Given the description of an element on the screen output the (x, y) to click on. 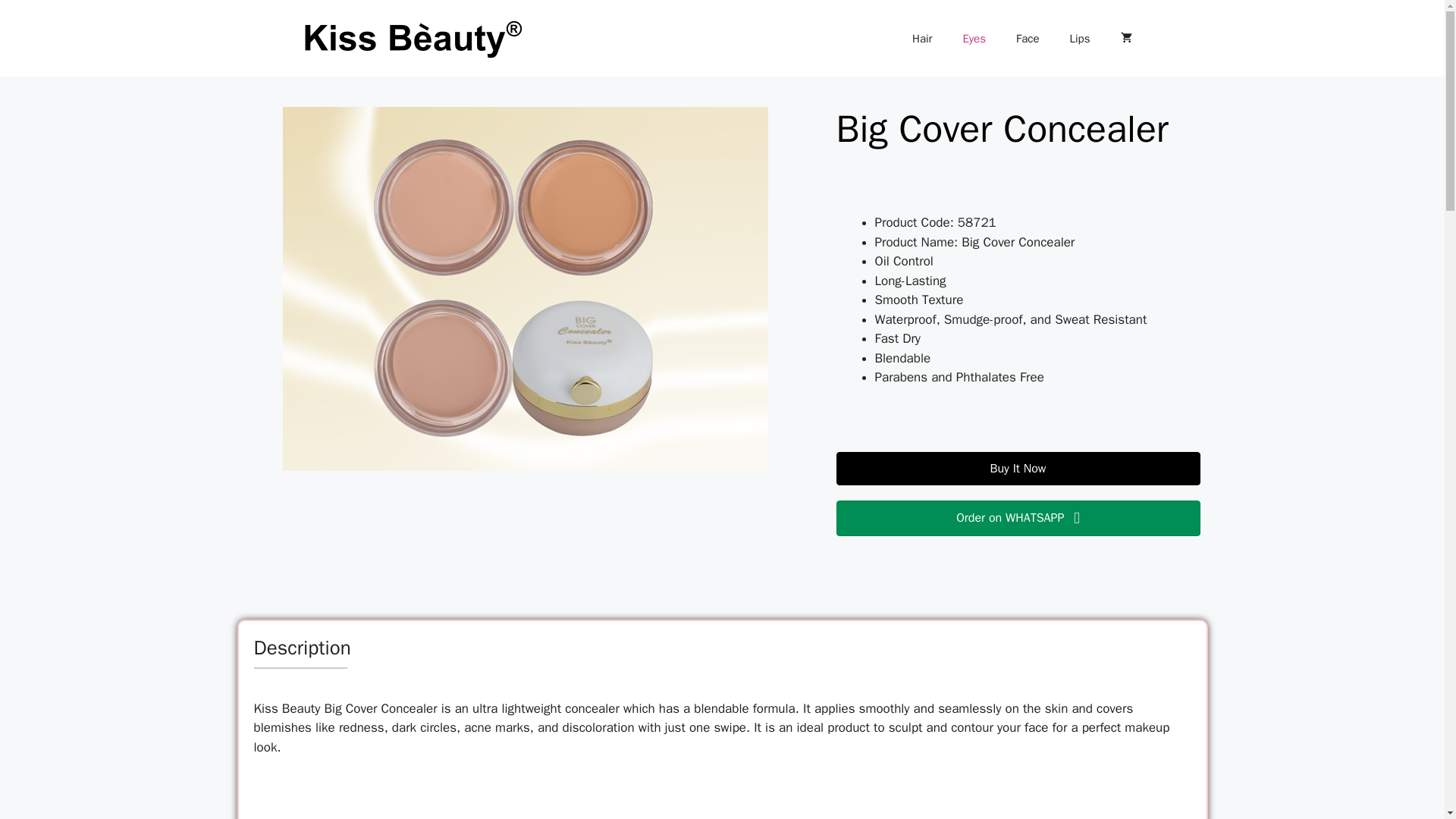
Eyes (974, 37)
kissbeauty (411, 38)
Buy It Now (1017, 468)
Face (1027, 37)
View your shopping cart (1126, 37)
Lips (1079, 37)
Order on WHATSAPP (1017, 518)
Hair (921, 37)
kissbeauty (411, 37)
